Given the description of an element on the screen output the (x, y) to click on. 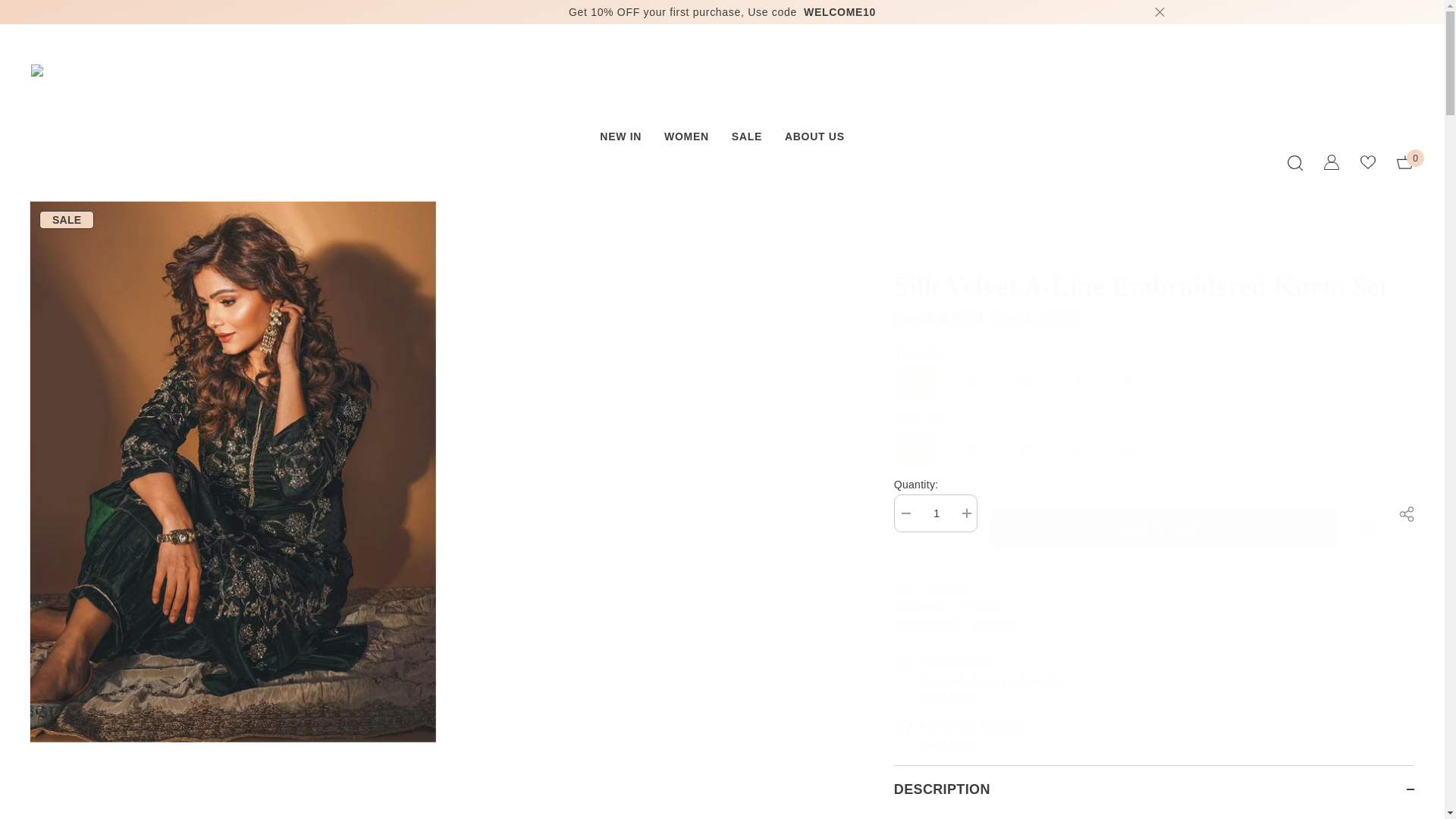
ADD TO CART (1163, 528)
Add to wishlist (1368, 528)
SALE (746, 139)
ABOUT US (1153, 675)
NEW IN (814, 139)
1 (620, 146)
WOMEN (934, 513)
Log in (1153, 408)
Close (686, 145)
SALE (1331, 161)
